Given the description of an element on the screen output the (x, y) to click on. 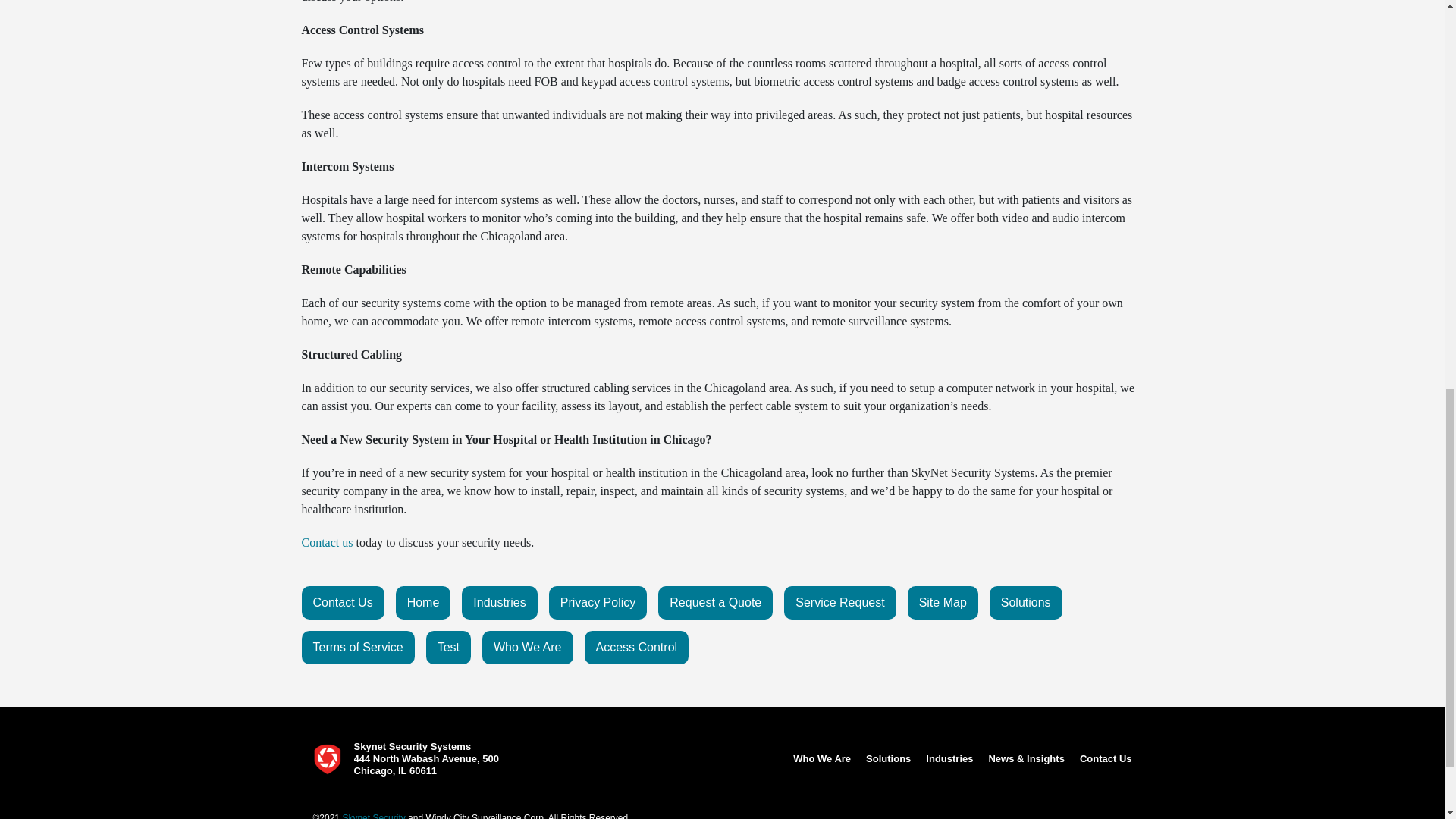
Contact Us (342, 602)
Home (423, 602)
Contact us (327, 542)
Industries (499, 602)
